Given the description of an element on the screen output the (x, y) to click on. 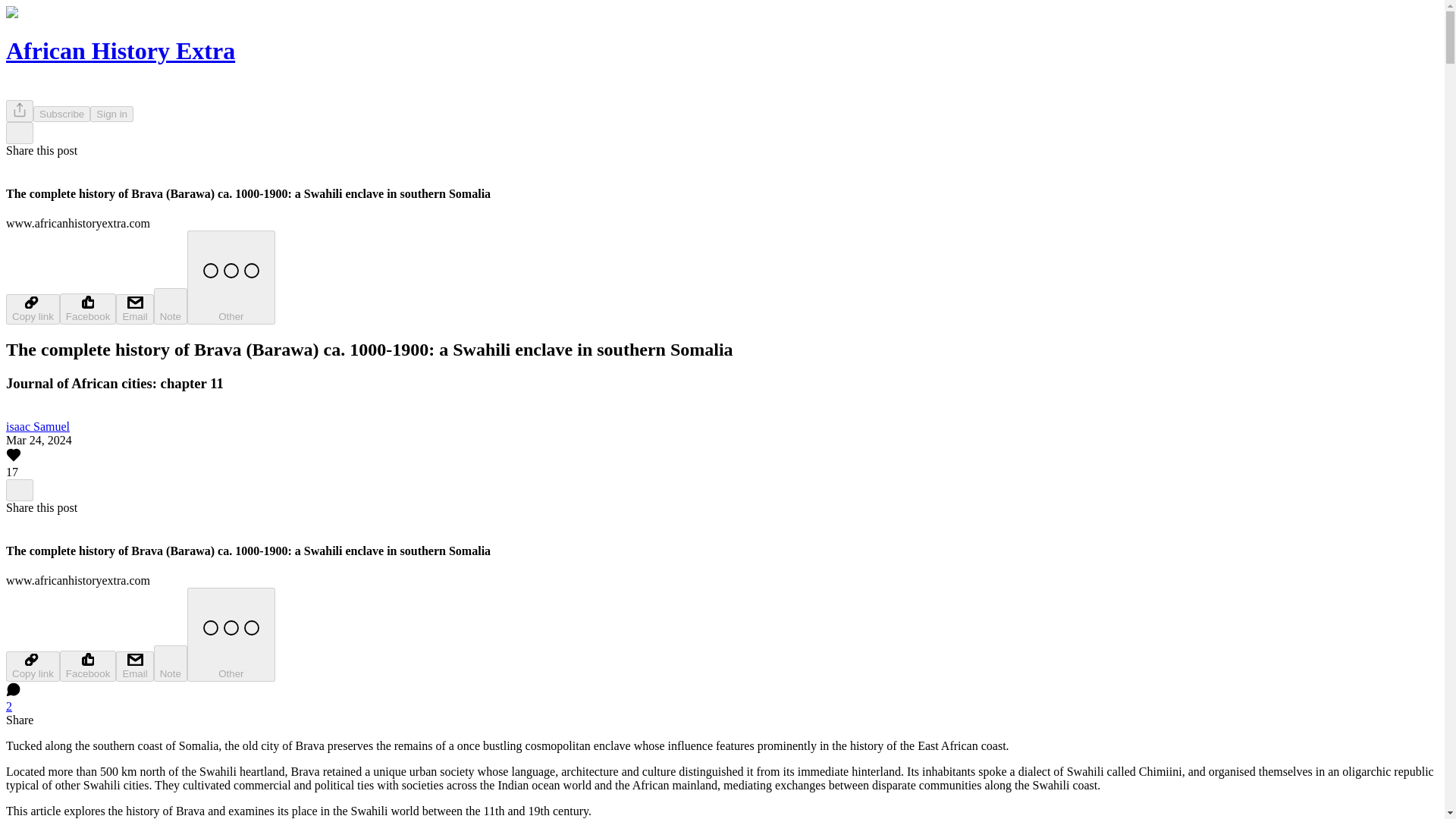
Facebook (87, 665)
Other (231, 634)
Note (170, 663)
Note (170, 306)
Email (134, 666)
Email (134, 309)
Copy link (32, 309)
Other (231, 277)
Facebook (87, 308)
African History Extra (119, 50)
Sign in (111, 114)
isaac Samuel (37, 426)
Subscribe (61, 114)
Copy link (32, 666)
